Given the description of an element on the screen output the (x, y) to click on. 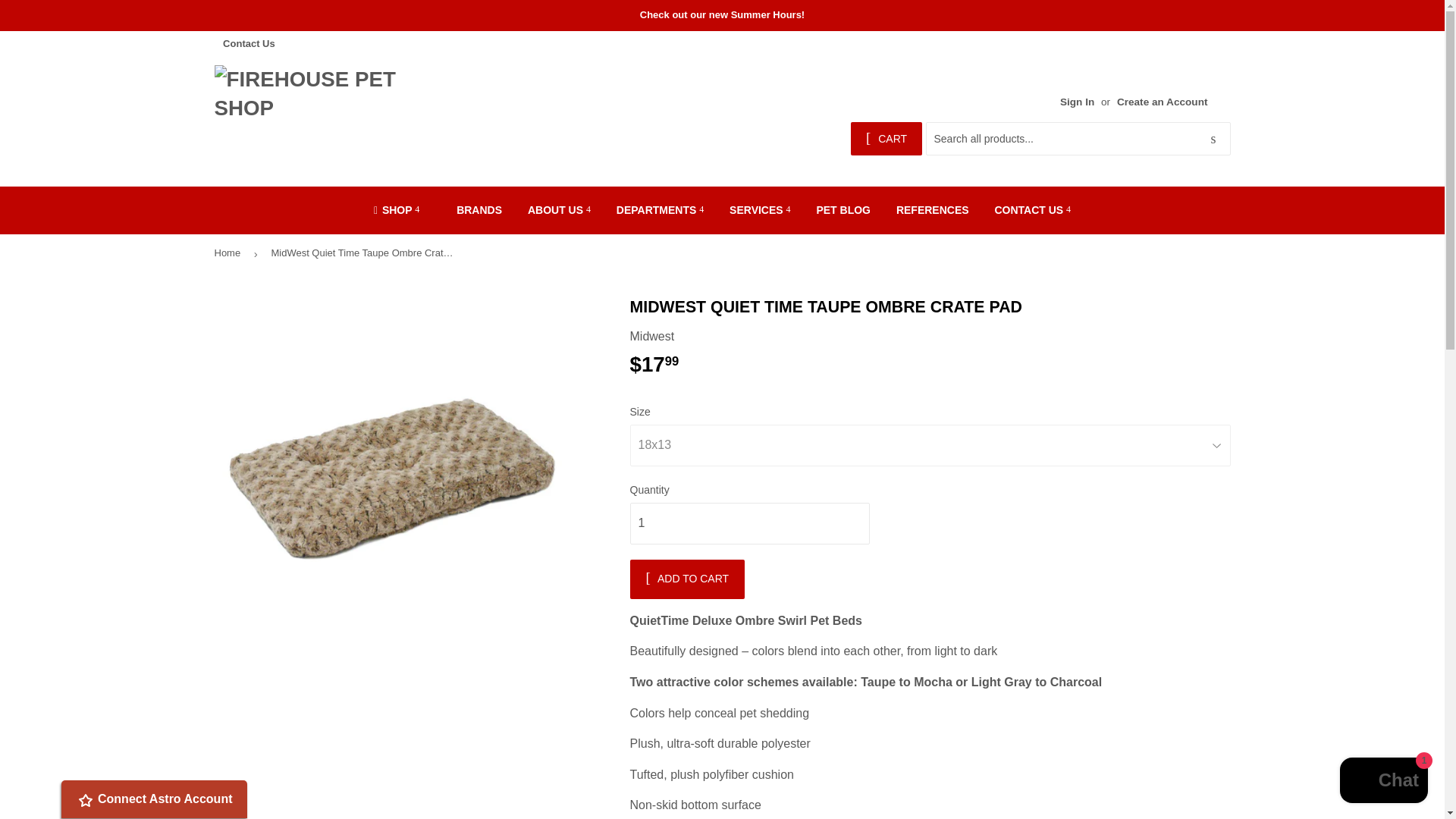
Create an Account (1162, 101)
CART (885, 138)
SEARCH (1213, 139)
Sign In (1076, 101)
 Contact Us (247, 43)
Check out our new Summer Hours! (721, 15)
Shopify online store chat (1383, 781)
1 (748, 523)
